Given the description of an element on the screen output the (x, y) to click on. 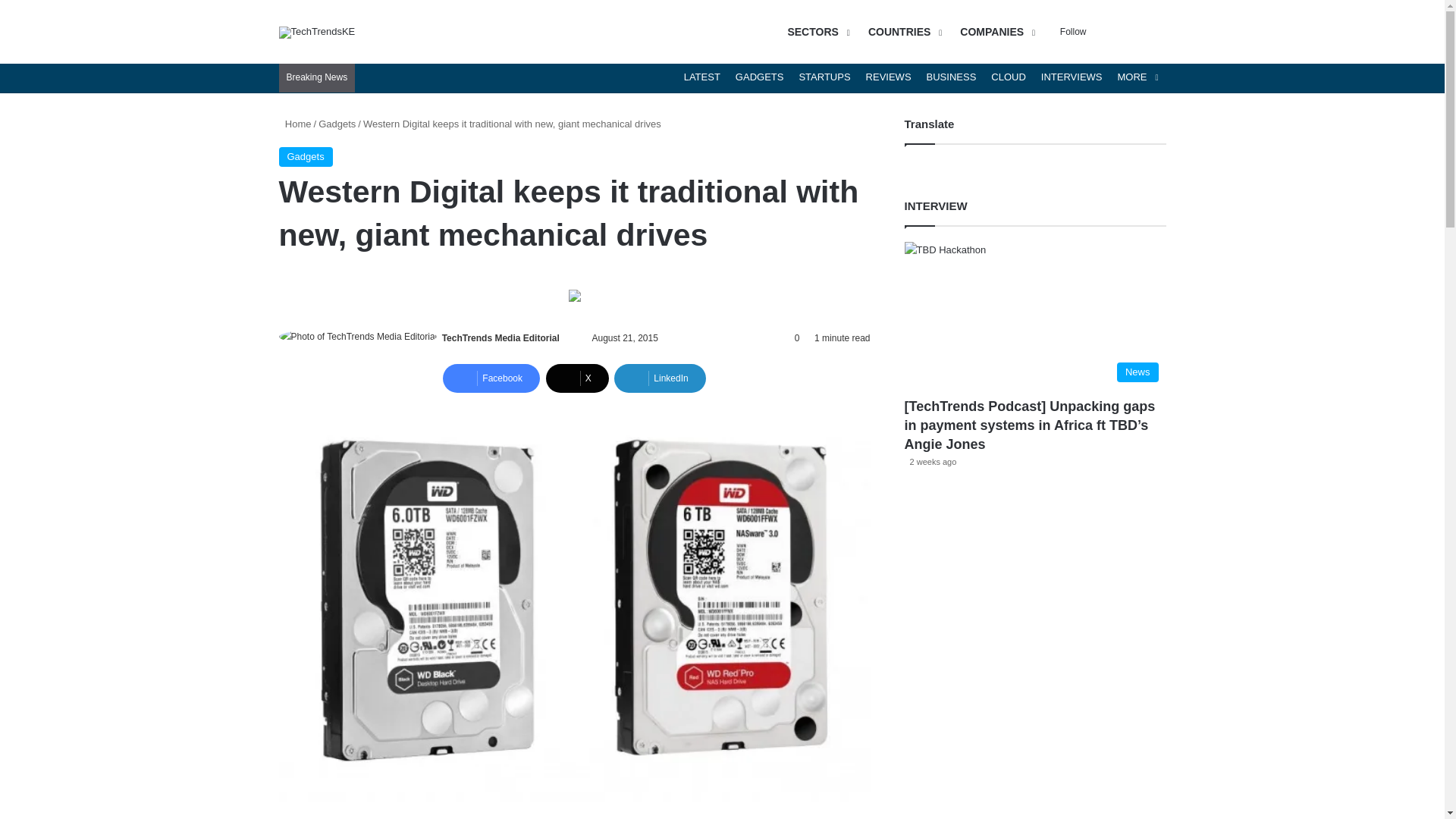
LinkedIn (659, 378)
Facebook (491, 378)
X (577, 378)
COUNTRIES (903, 31)
TechTrendsKE (317, 31)
SECTORS (816, 31)
COMPANIES (995, 31)
TechTrends Media Editorial (500, 337)
